Given the description of an element on the screen output the (x, y) to click on. 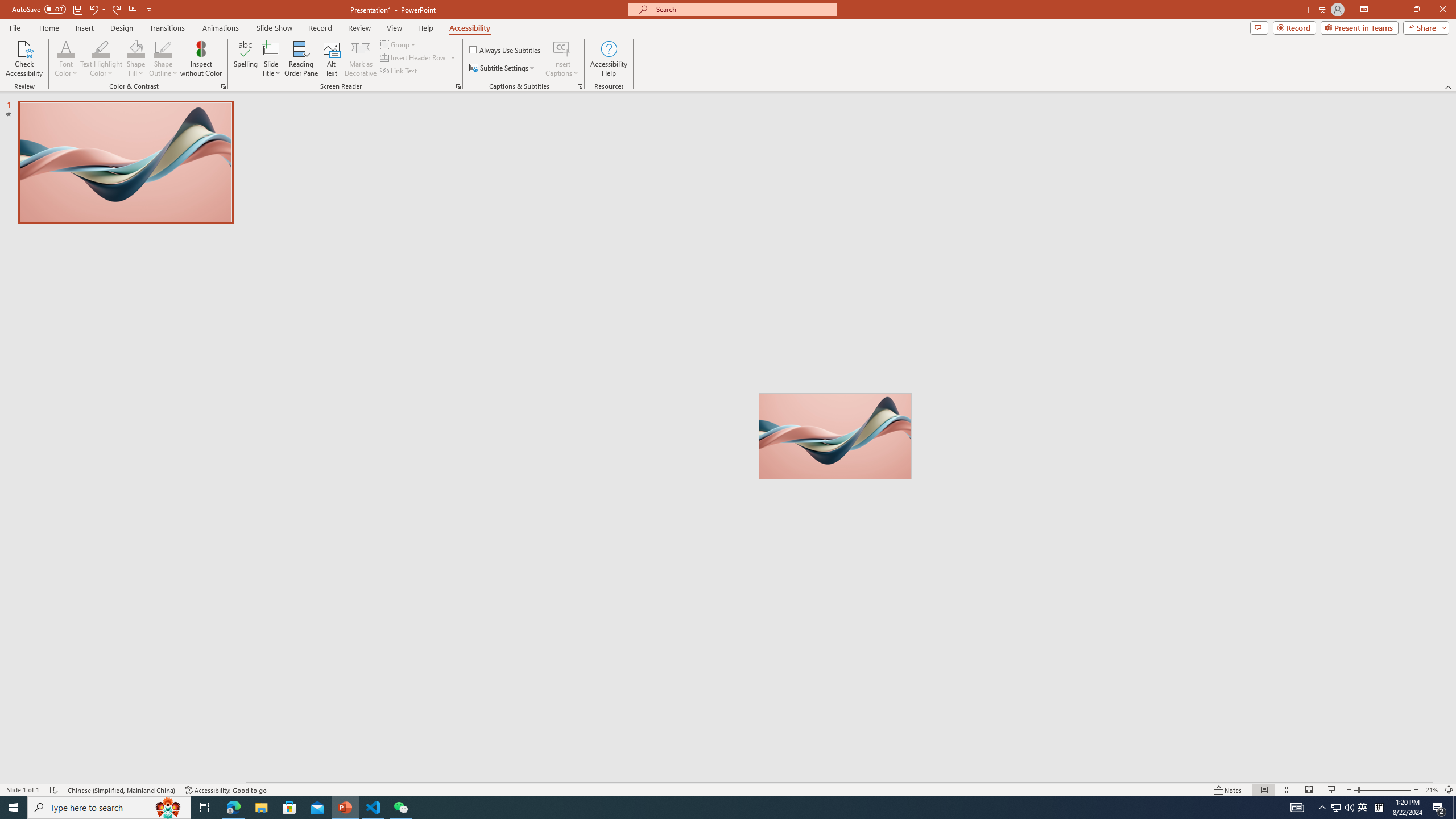
Insert Header Row (413, 56)
Color & Contrast (223, 85)
Accessibility Checker Accessibility: Good to go (226, 790)
